Given the description of an element on the screen output the (x, y) to click on. 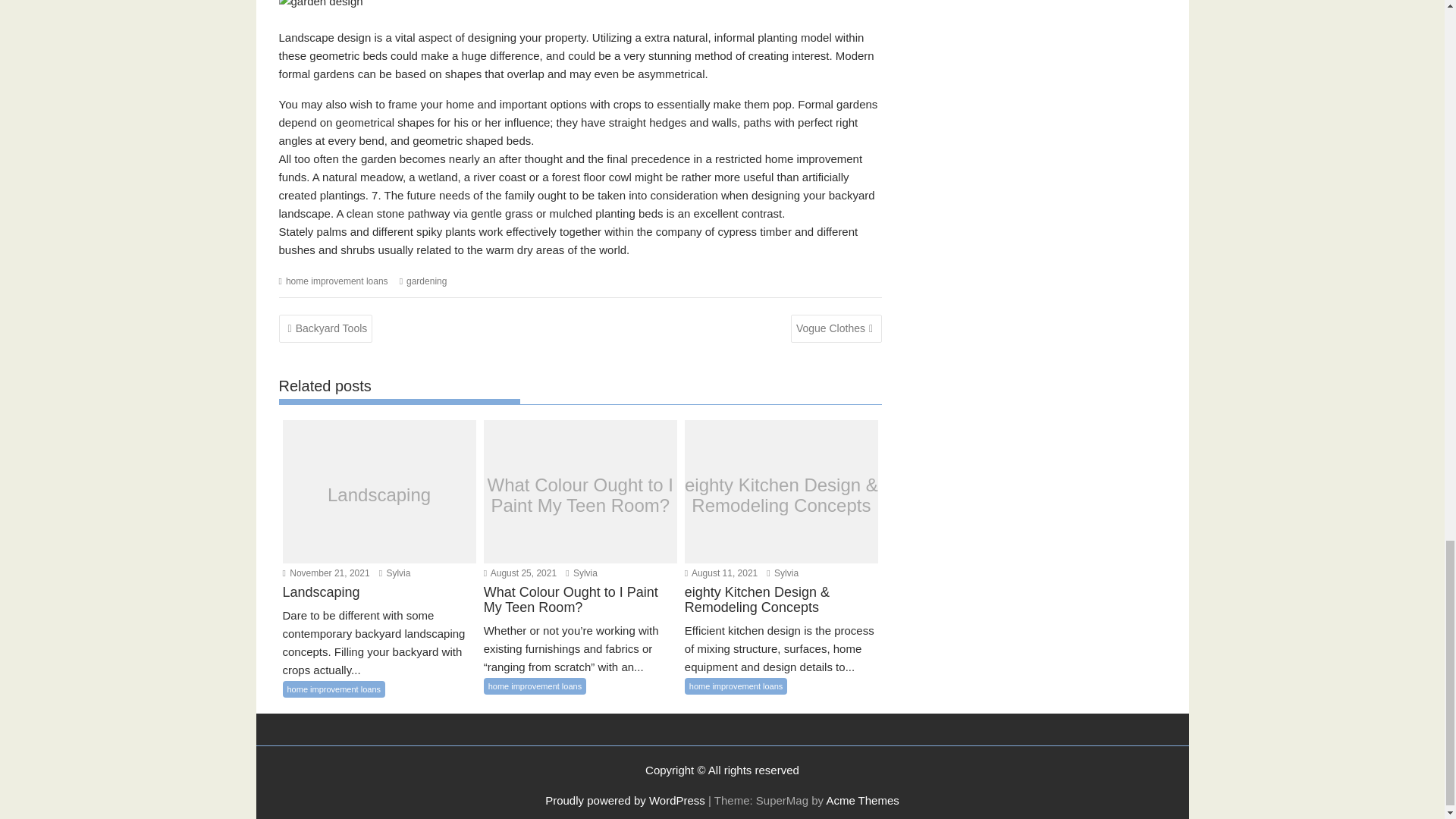
Sylvia (782, 573)
Sylvia (581, 573)
Sylvia (394, 573)
